Given the description of an element on the screen output the (x, y) to click on. 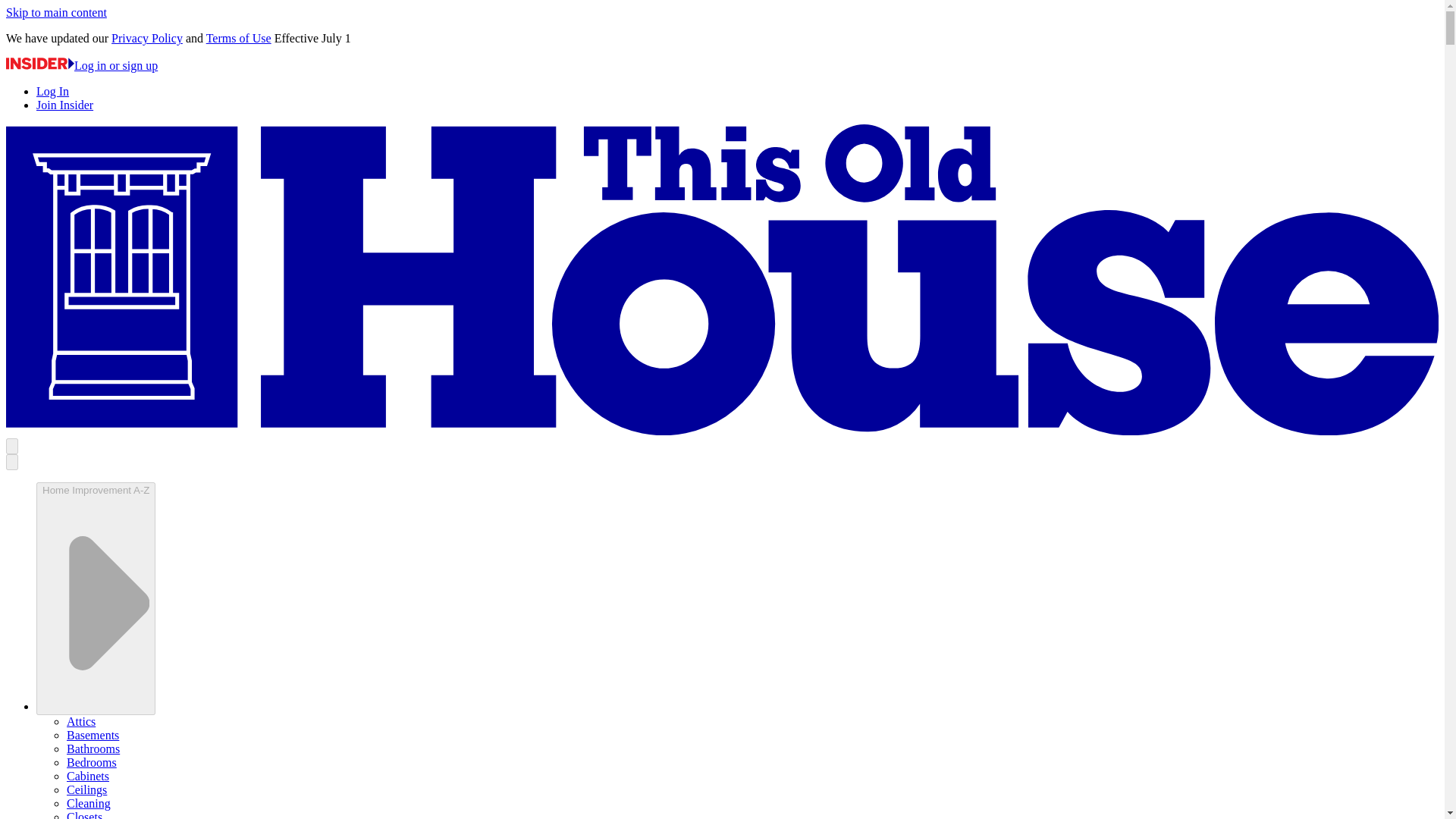
Log in or sign up (81, 65)
Attics (81, 721)
Terms of Use (238, 38)
Bedrooms (91, 762)
Skip to main content (55, 11)
Bathrooms (92, 748)
Join Insider (64, 104)
Cleaning (88, 802)
Basements (92, 735)
Privacy Policy (147, 38)
